Given the description of an element on the screen output the (x, y) to click on. 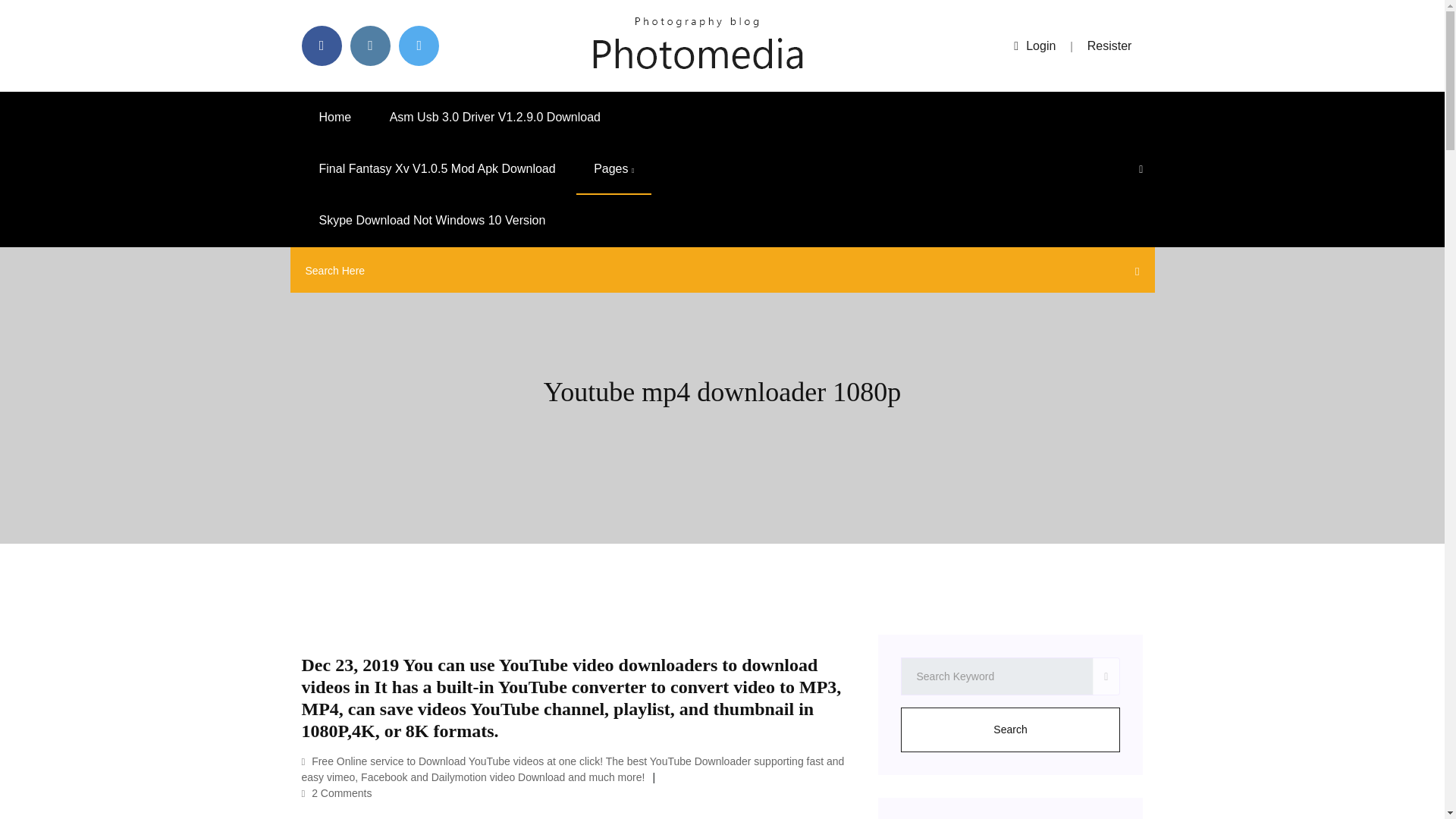
Asm Usb 3.0 Driver V1.2.9.0 Download (494, 117)
Final Fantasy Xv V1.0.5 Mod Apk Download (437, 168)
Home (335, 117)
Resister (1109, 45)
Pages (613, 168)
2 Comments (336, 793)
Login (1034, 45)
Skype Download Not Windows 10 Version (432, 220)
